Given the description of an element on the screen output the (x, y) to click on. 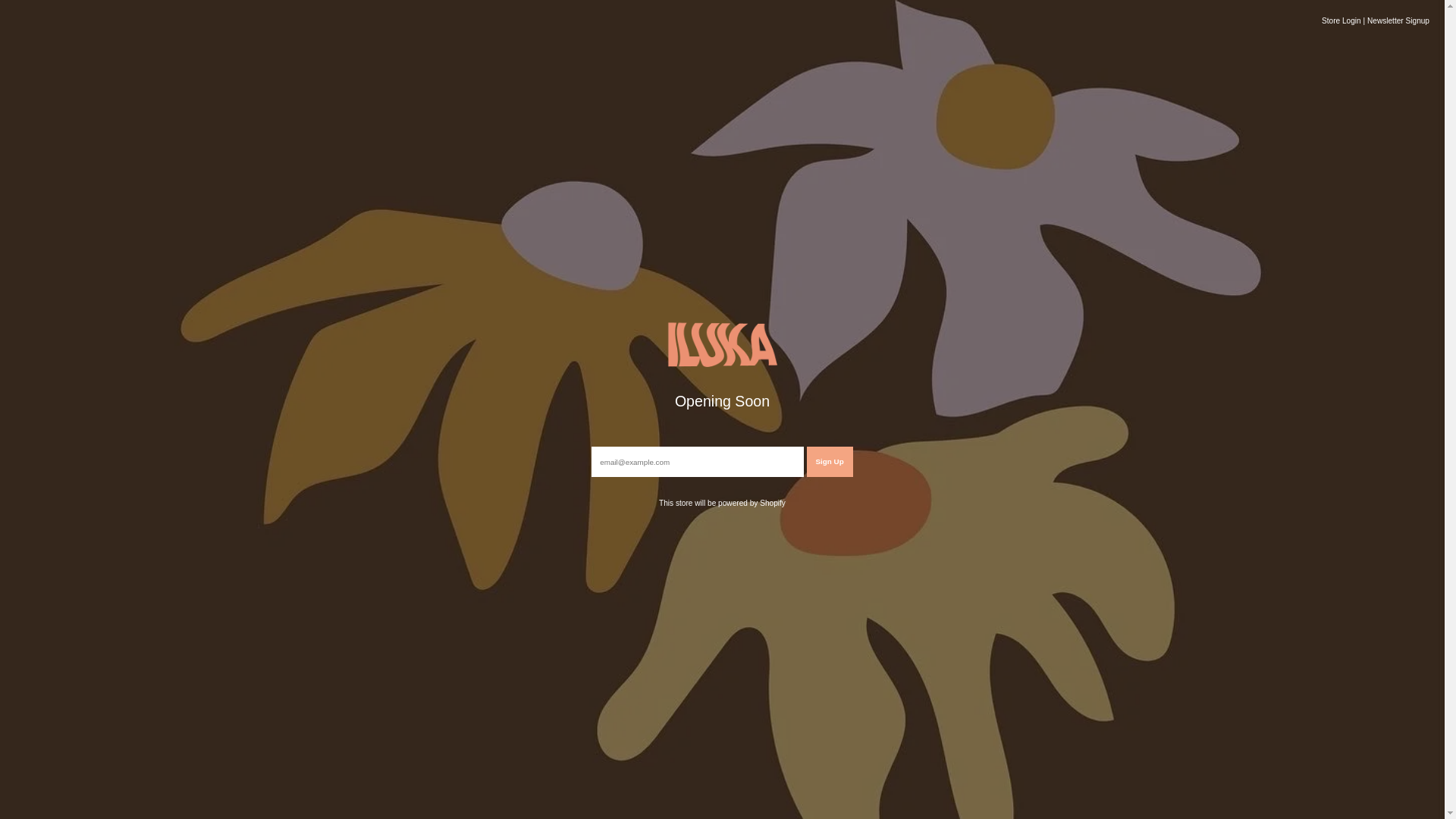
Shopify Element type: text (772, 502)
Newsletter Signup Element type: text (1398, 20)
Sign Up Element type: text (829, 461)
Store Login Element type: text (1341, 20)
